Given the description of an element on the screen output the (x, y) to click on. 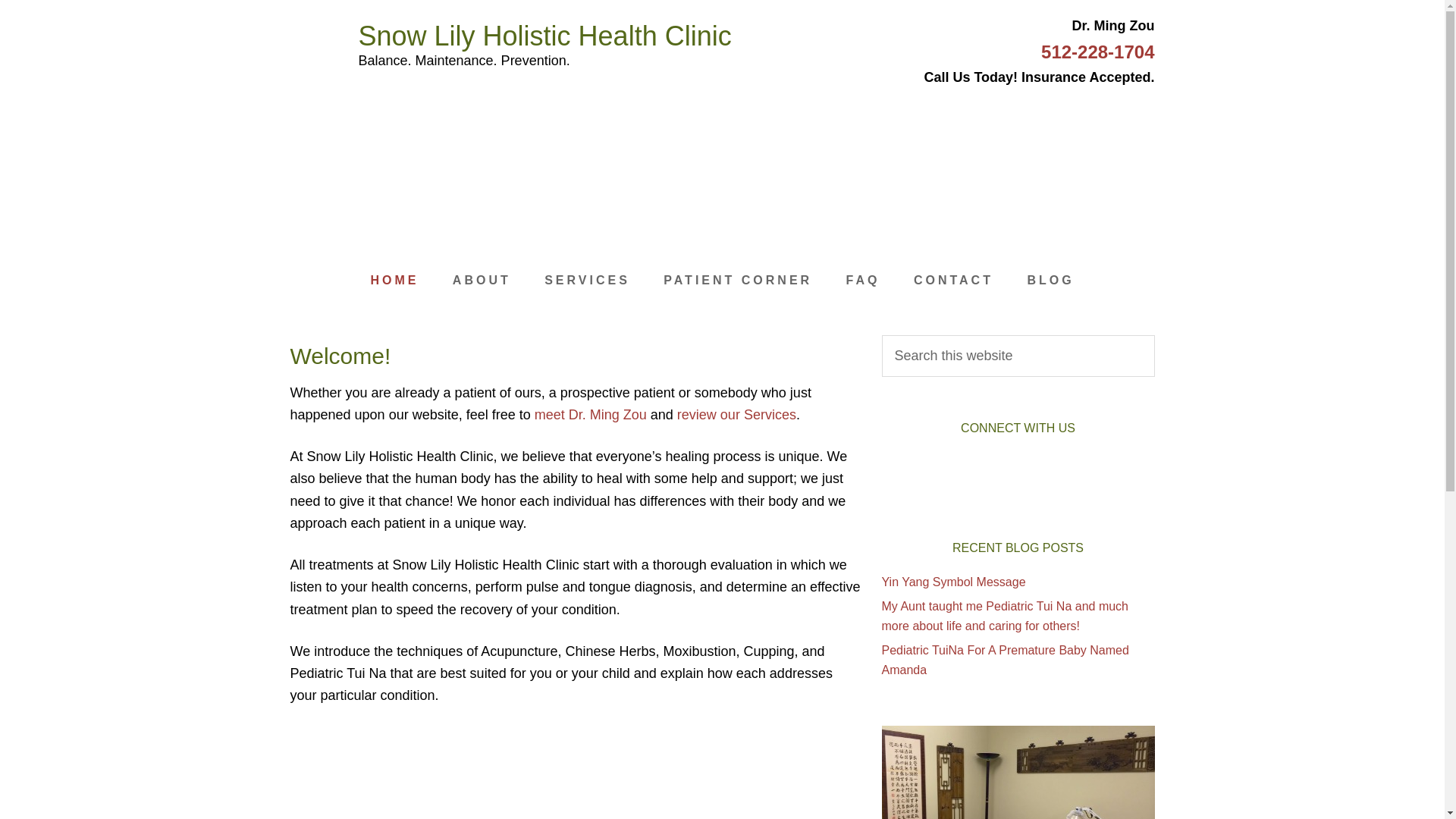
BLOG (1050, 280)
About Your Practitioner (590, 414)
Snow Lily Holistic Health Clinic (544, 35)
HOME (394, 280)
FAQ (863, 280)
ABOUT (481, 280)
Services (736, 414)
CONTACT (953, 280)
512-228-1704 (1097, 51)
review our Services (736, 414)
Pediatric TuiNa For A Premature Baby Named Amanda (1004, 658)
